Given the description of an element on the screen output the (x, y) to click on. 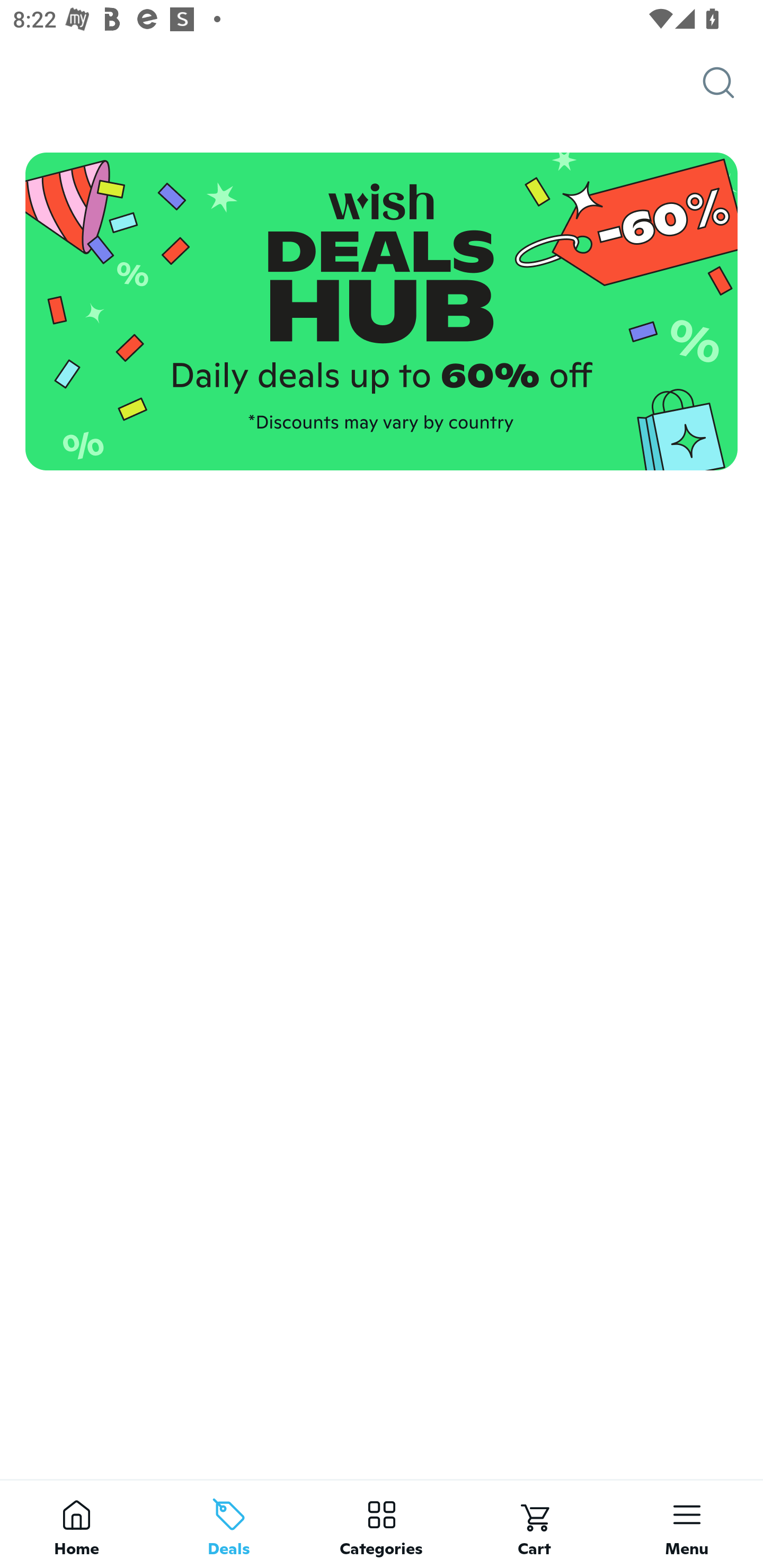
Search (732, 82)
Home (76, 1523)
Deals (228, 1523)
Categories (381, 1523)
Cart (533, 1523)
Menu (686, 1523)
